Given the description of an element on the screen output the (x, y) to click on. 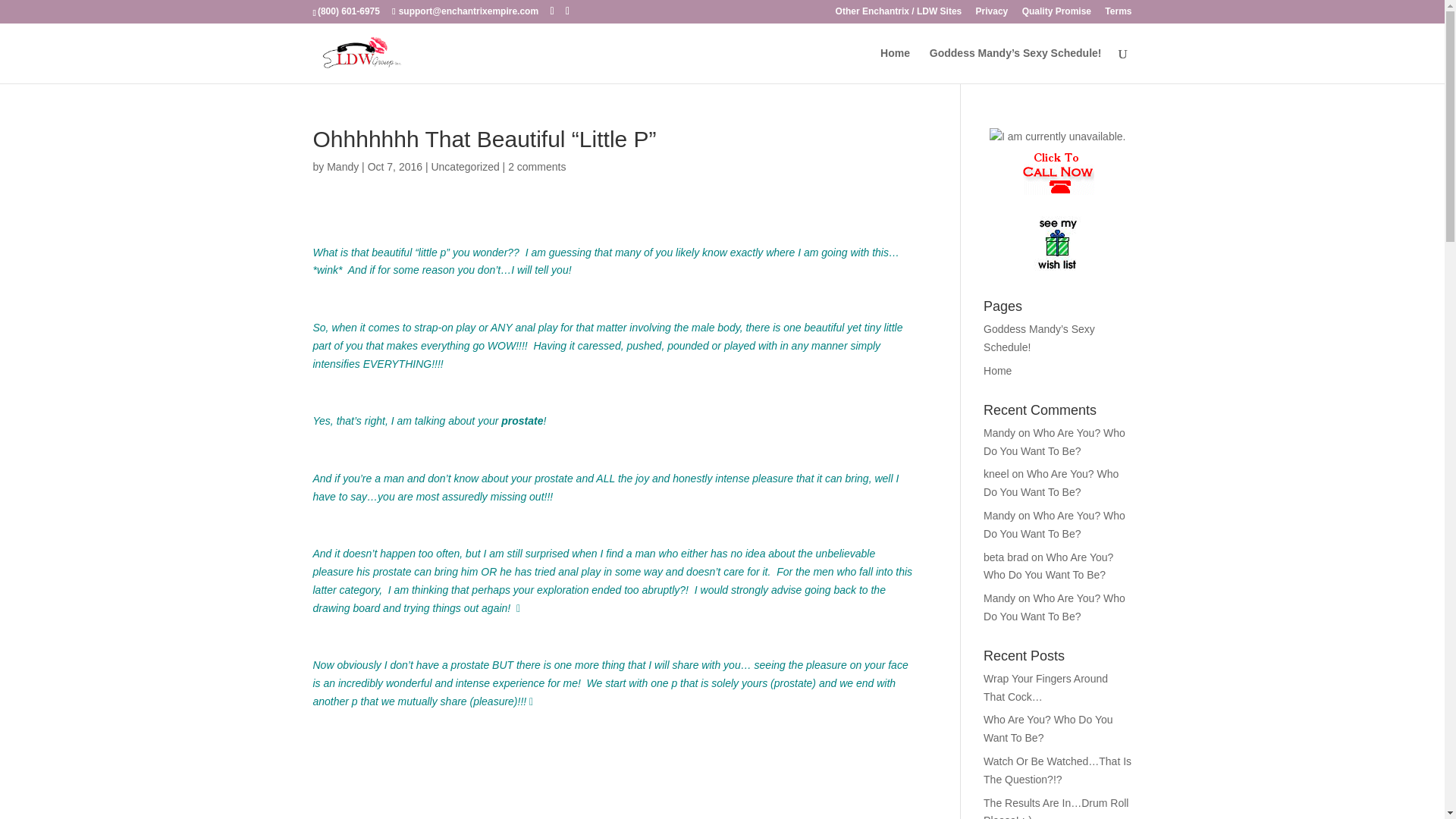
beta brad (1005, 557)
Home (997, 370)
Who Are You? Who Do You Want To Be? (1051, 482)
Mandy (342, 166)
Uncategorized (464, 166)
2 comments (537, 166)
Who Are You? Who Do You Want To Be? (1048, 566)
Posts by Mandy (342, 166)
Who Are You? Who Do You Want To Be? (1048, 728)
Who Are You? Who Do You Want To Be? (1054, 441)
Quality Promise (1056, 14)
Terms (1118, 14)
Who Are You? Who Do You Want To Be? (1054, 607)
Who Are You? Who Do You Want To Be? (1054, 524)
Privacy (992, 14)
